Given the description of an element on the screen output the (x, y) to click on. 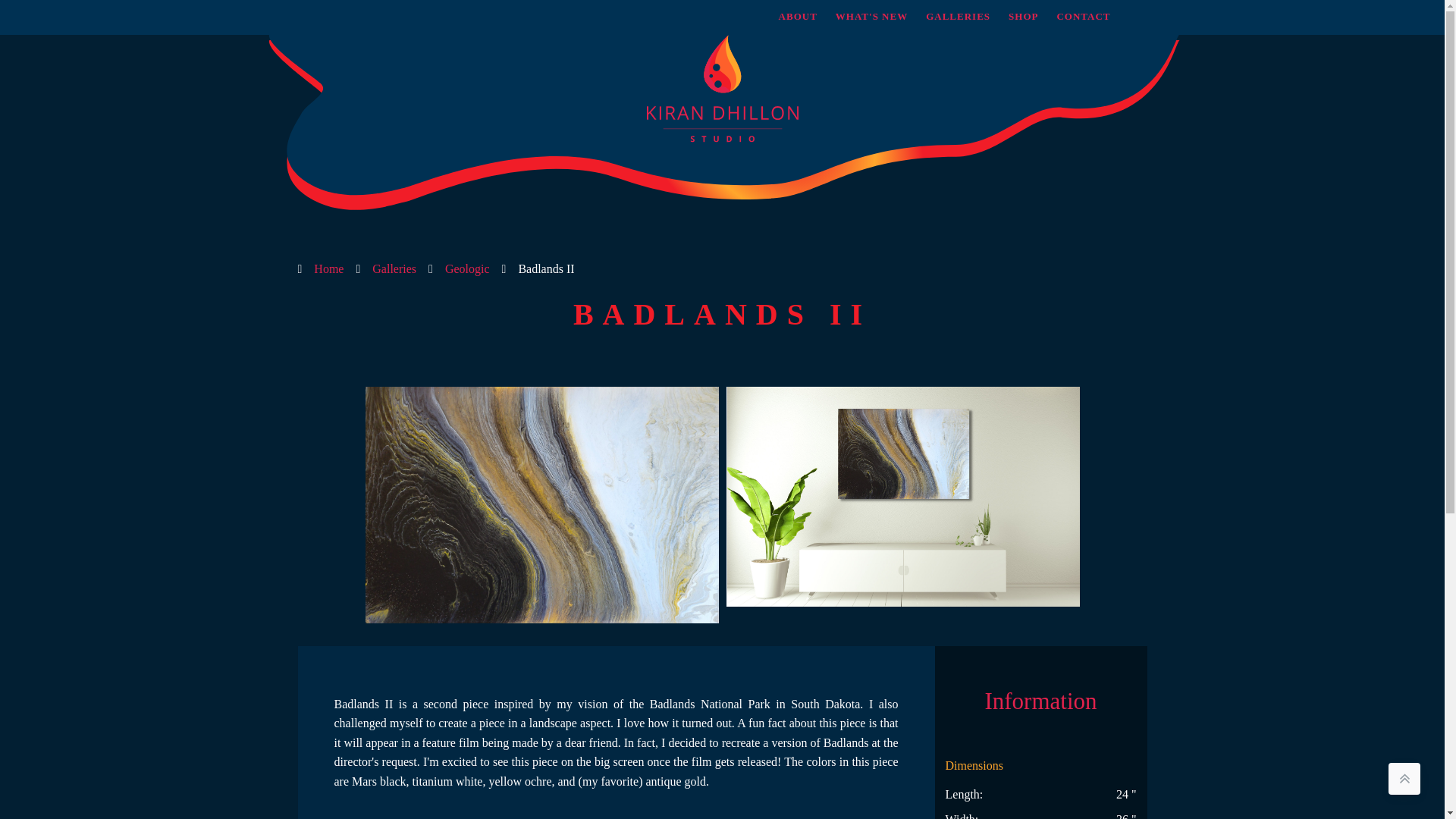
SHOP (1022, 17)
Badlands II in room (903, 496)
Geologic (467, 269)
Badlands II (542, 504)
Galleries (394, 269)
CONTACT (1082, 17)
Home (328, 269)
WHAT'S NEW (872, 17)
ABOUT (798, 17)
GALLERIES (957, 17)
